Given the description of an element on the screen output the (x, y) to click on. 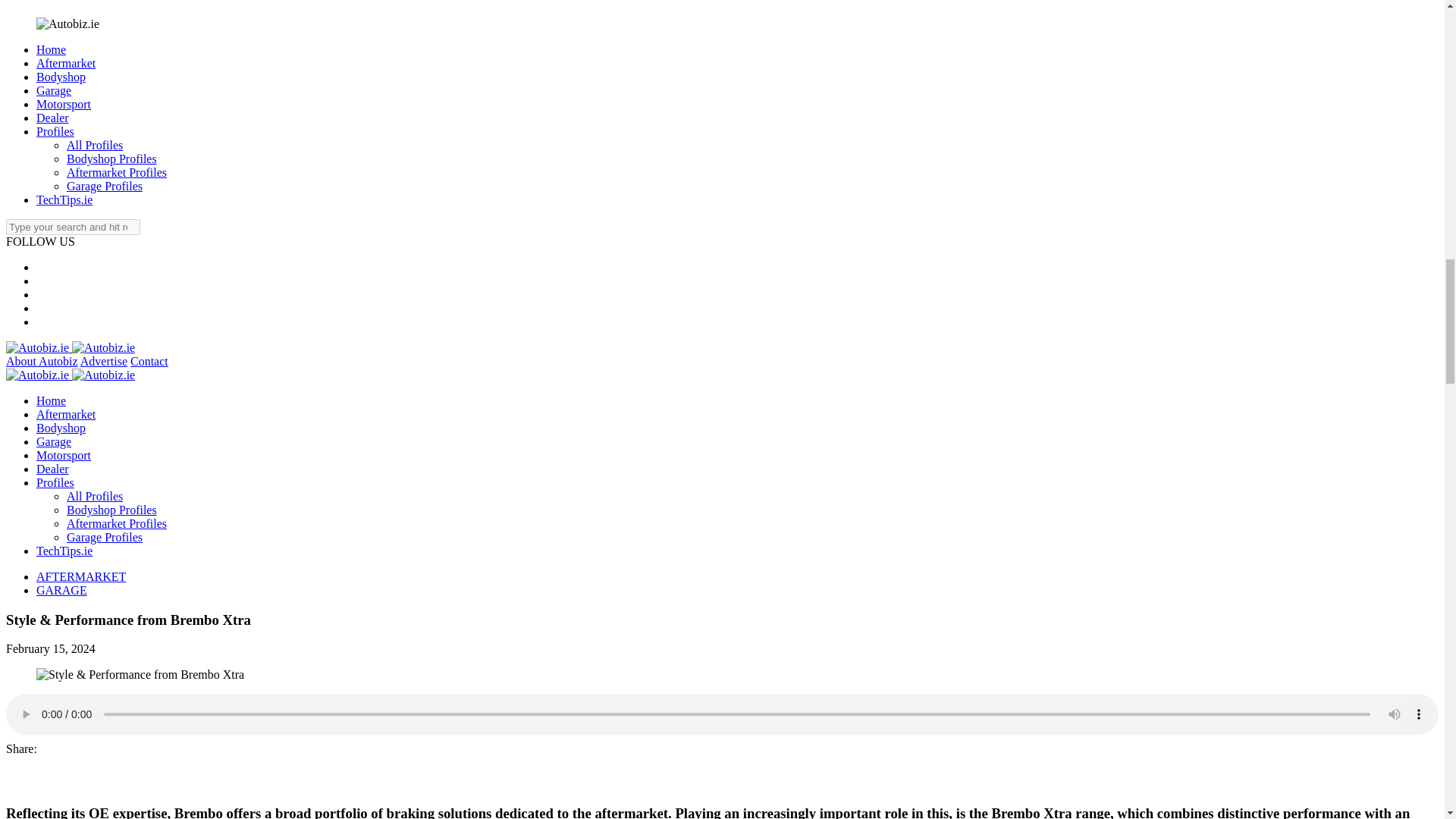
About Autobiz (41, 360)
Profiles (55, 131)
Contact (149, 360)
Garage (53, 90)
Motorsport (63, 103)
Bodyshop Profiles (111, 158)
Garage Profiles (104, 185)
Bodyshop (60, 76)
Dealer (52, 117)
TechTips.ie (64, 199)
Advertise (104, 360)
Home (50, 49)
All Profiles (94, 144)
Aftermarket (66, 62)
Aftermarket Profiles (116, 172)
